Given the description of an element on the screen output the (x, y) to click on. 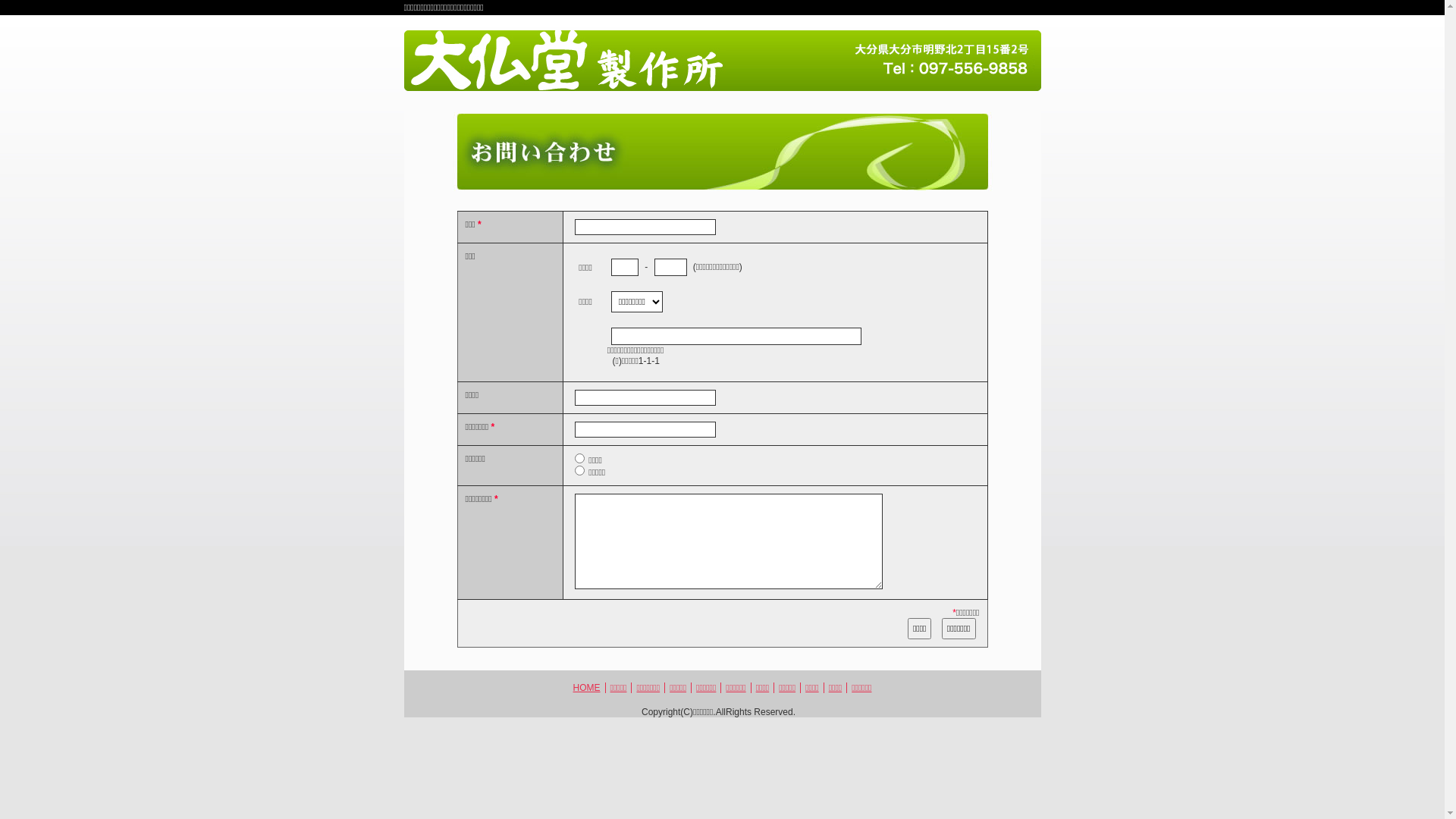
HOME Element type: text (586, 687)
